Given the description of an element on the screen output the (x, y) to click on. 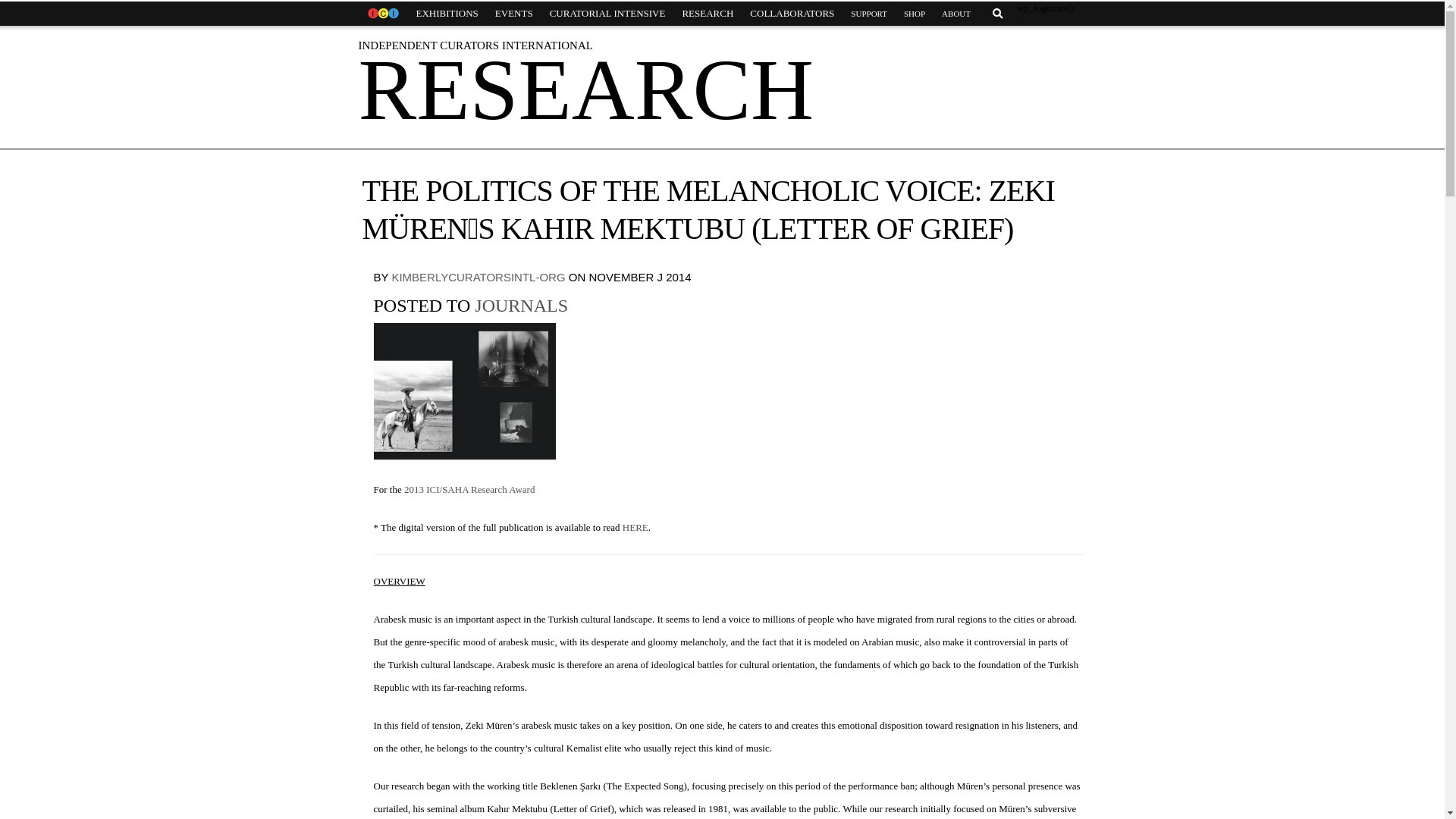
EXHIBITIONS (446, 13)
EVENTS (513, 13)
COLLABORATORS (792, 13)
HOME (382, 13)
RESEARCH (706, 13)
CURATORIAL INTENSIVE (607, 13)
